Given the description of an element on the screen output the (x, y) to click on. 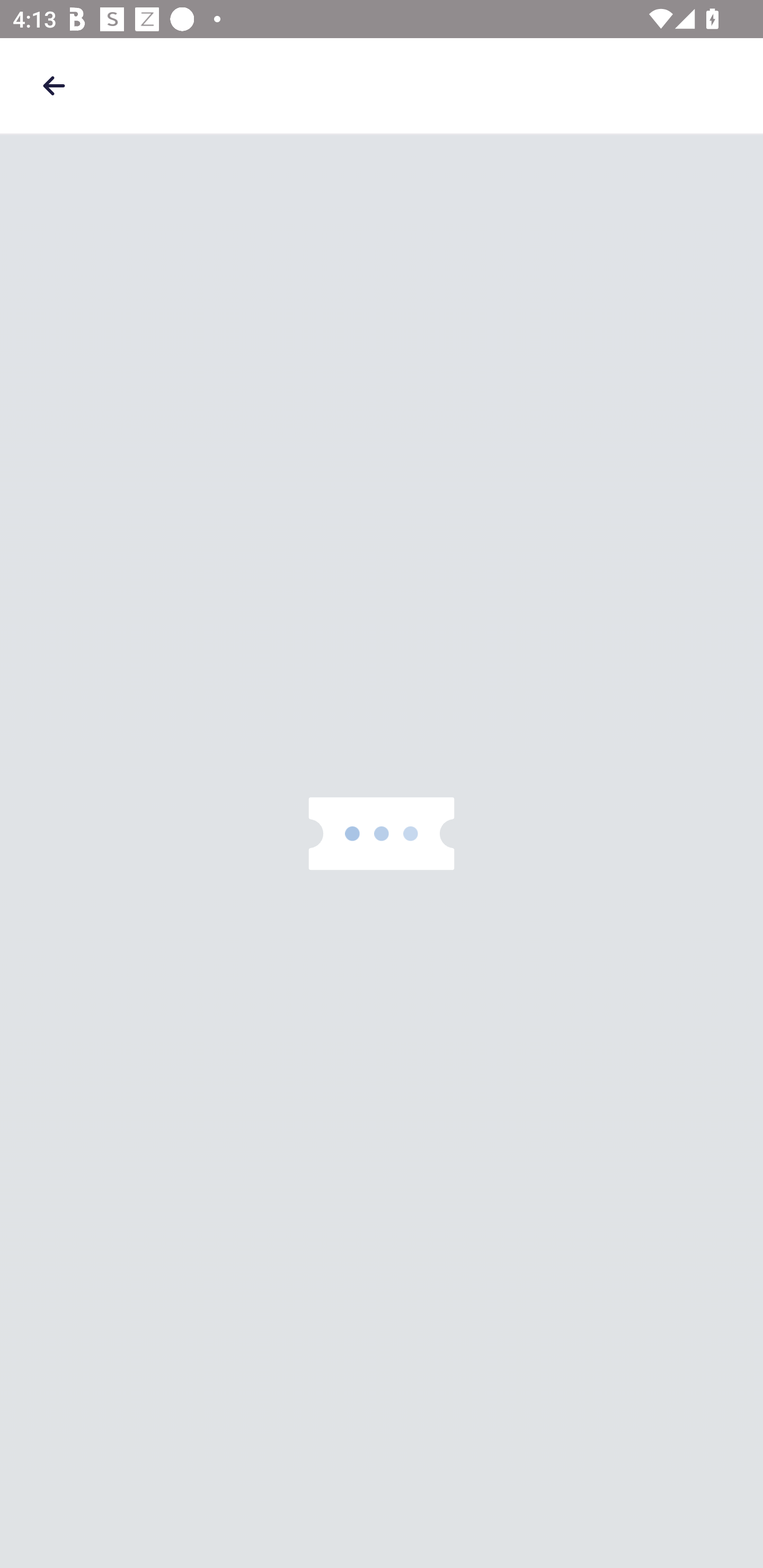
back button (53, 85)
